Given the description of an element on the screen output the (x, y) to click on. 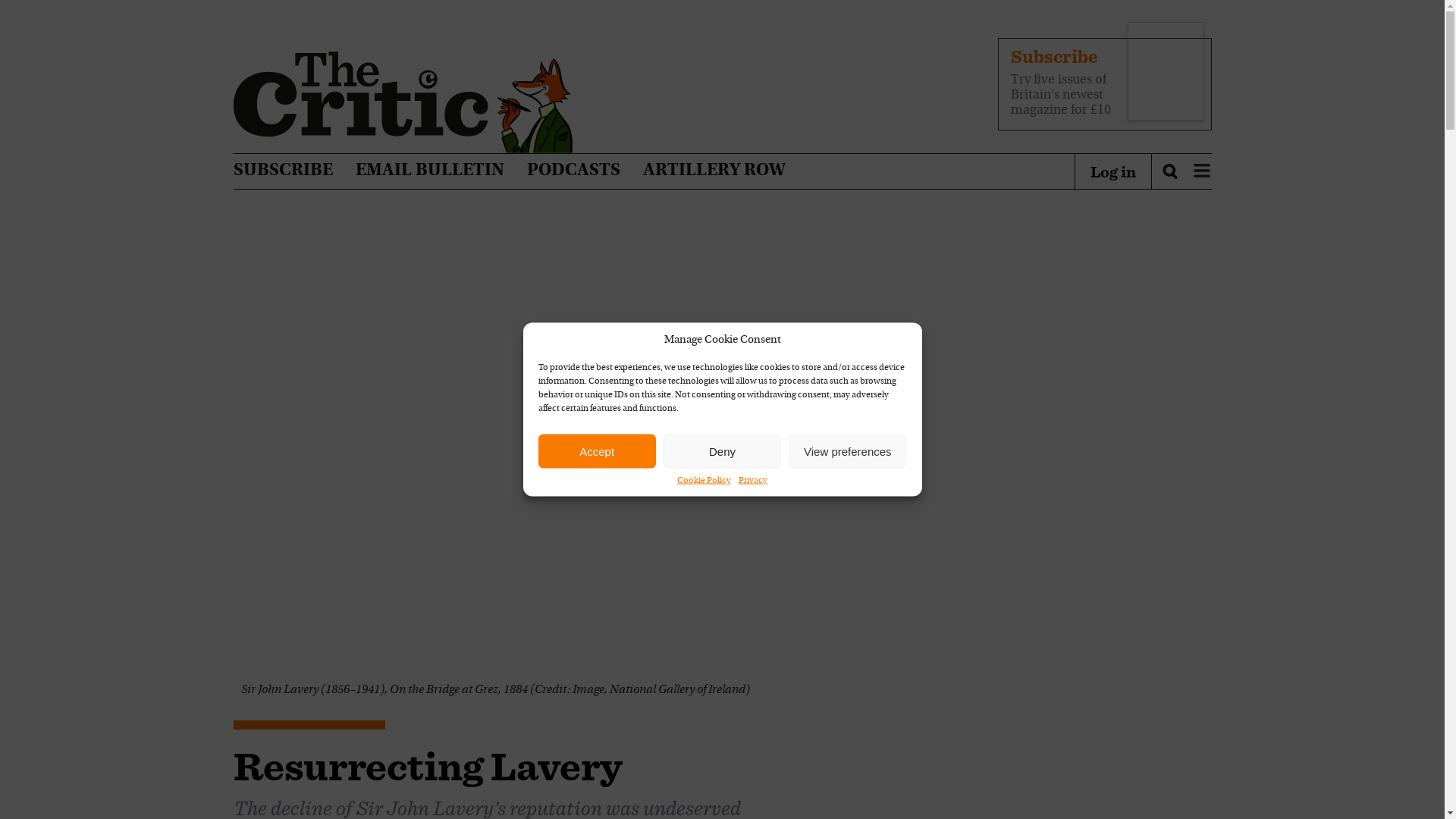
EMAIL BULLETIN (429, 171)
Log in (1112, 171)
Accept (597, 450)
ARTILLERY ROW (714, 171)
View preferences (847, 450)
Cookie Policy (703, 480)
Deny (721, 450)
PODCASTS (572, 171)
Privacy (752, 480)
SUBSCRIBE (282, 171)
